Given the description of an element on the screen output the (x, y) to click on. 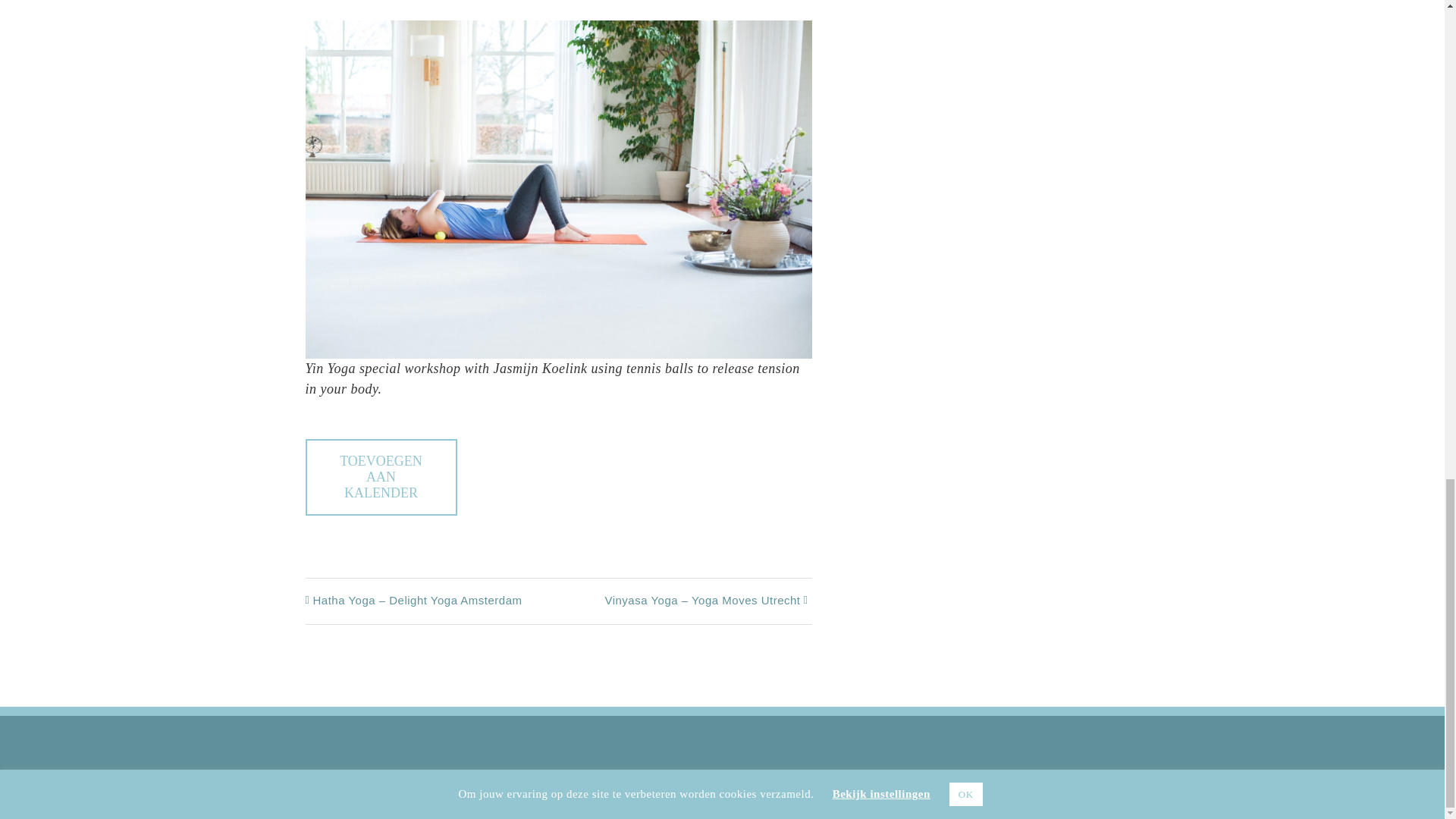
TOEVOEGEN AAN KALENDER (380, 477)
SCREATIVE (762, 799)
